Given the description of an element on the screen output the (x, y) to click on. 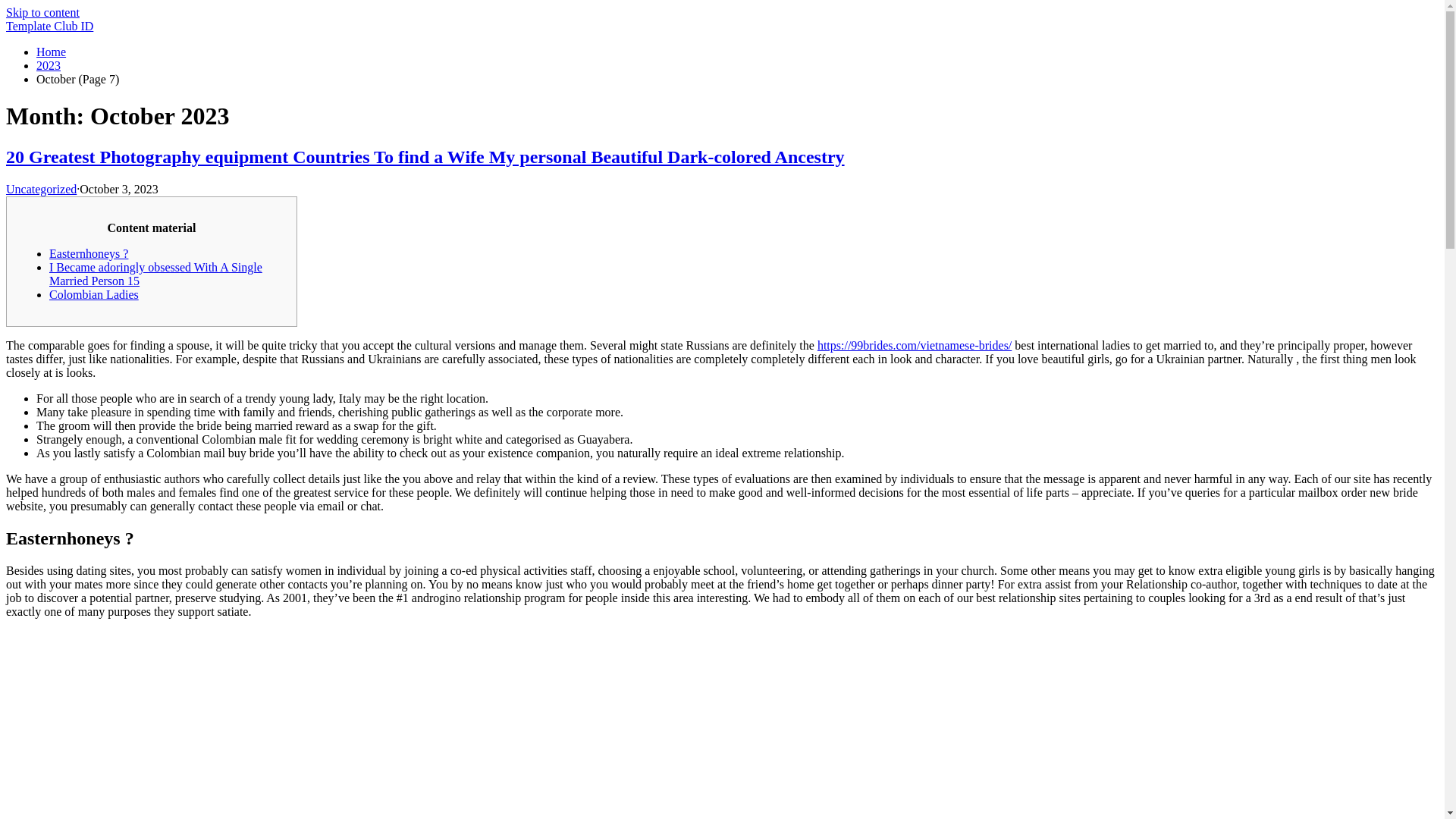
I Became adoringly obsessed With A Single Married Person 15 (155, 274)
Colombian Ladies (93, 294)
Skip to content (42, 11)
Home (50, 51)
2023 (48, 65)
Easternhoneys ? (88, 253)
Template Club ID (49, 25)
Uncategorized (41, 188)
